Given the description of an element on the screen output the (x, y) to click on. 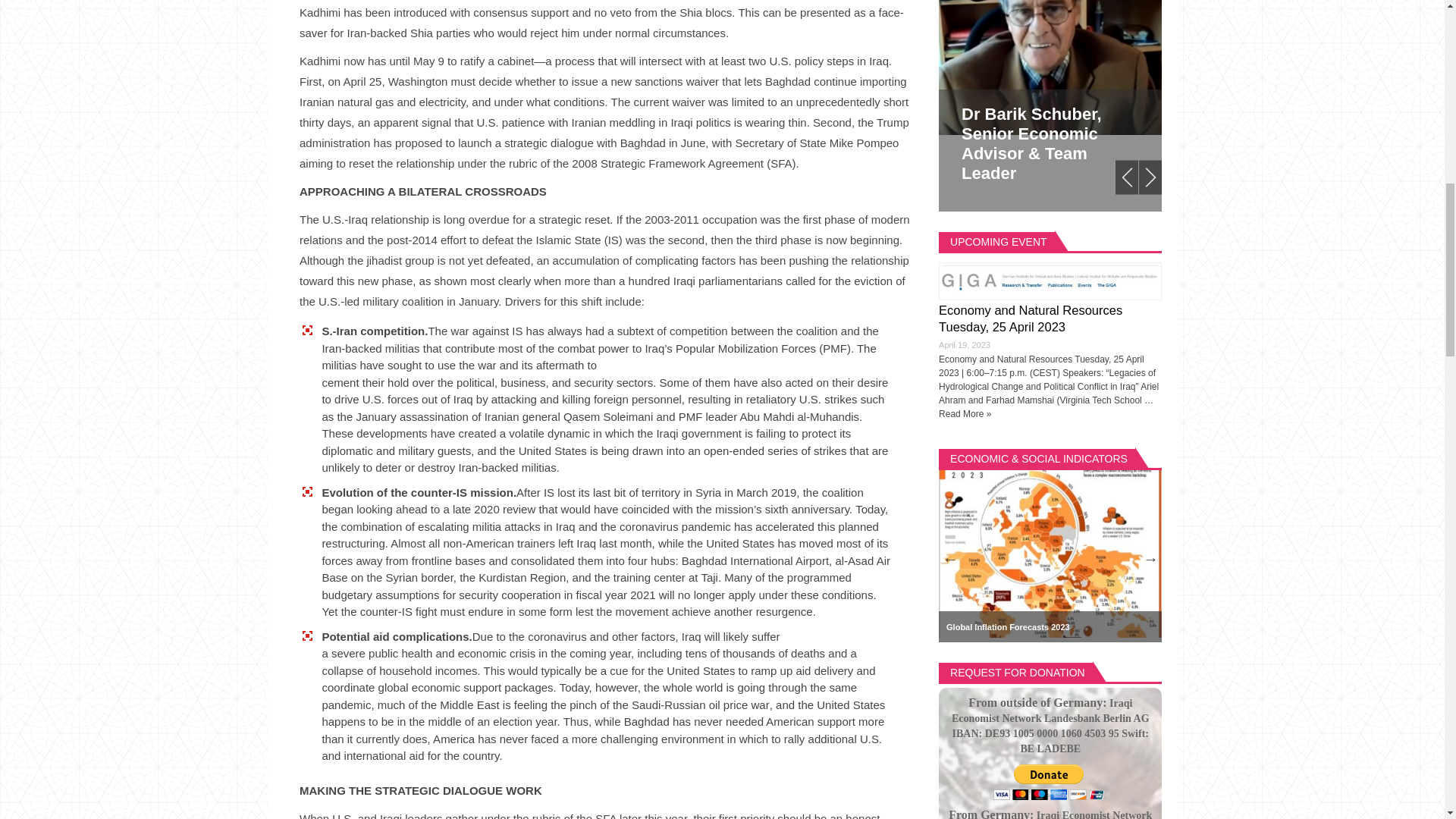
UPCOMING EVENT (998, 241)
